Given the description of an element on the screen output the (x, y) to click on. 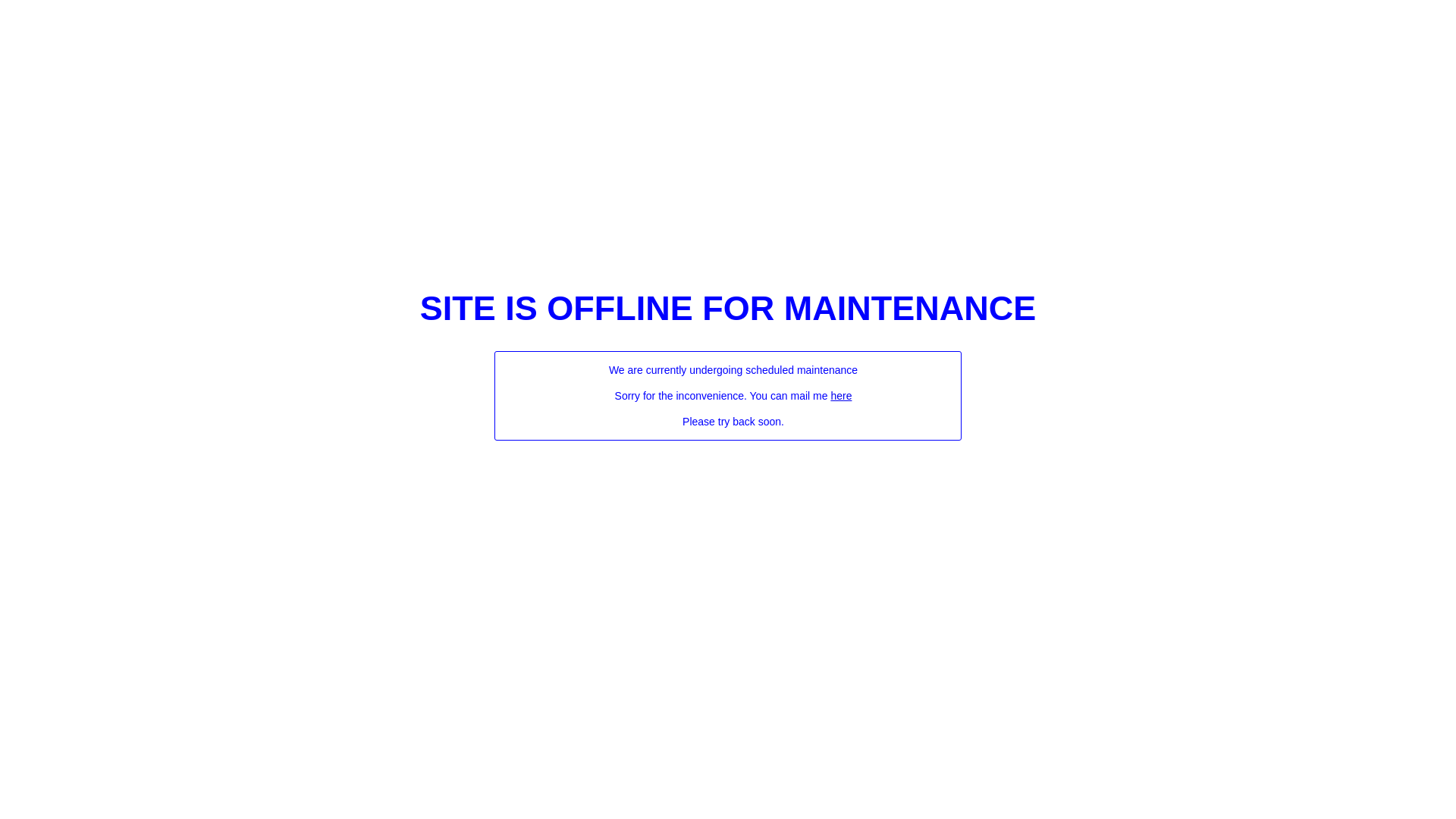
here Element type: text (840, 395)
